Given the description of an element on the screen output the (x, y) to click on. 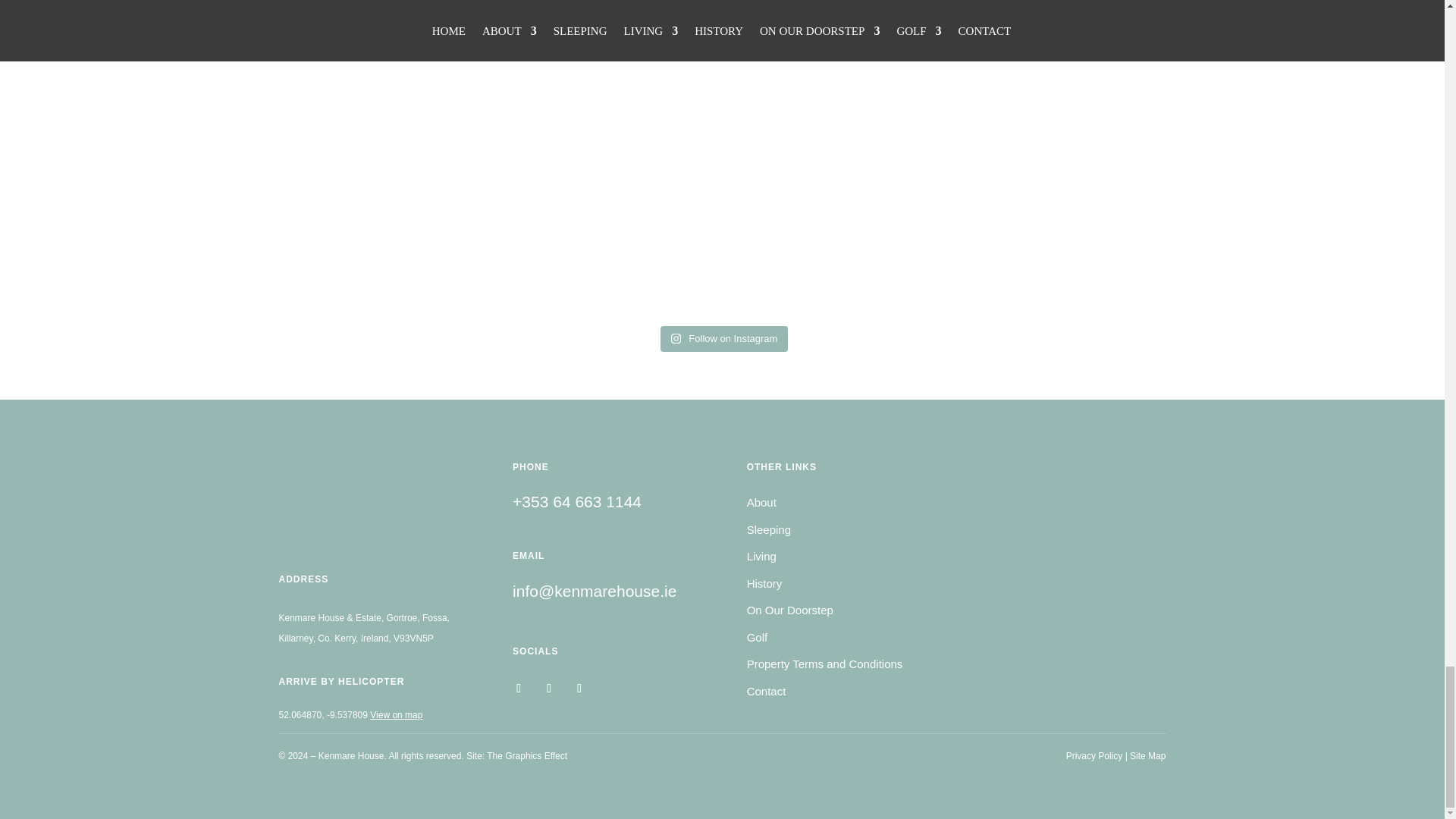
Follow on TripAdvisor (548, 688)
Follow on Vimeo (579, 688)
Follow on Instagram (518, 688)
Kenmare-House-Logo-FINAL (365, 539)
